Given the description of an element on the screen output the (x, y) to click on. 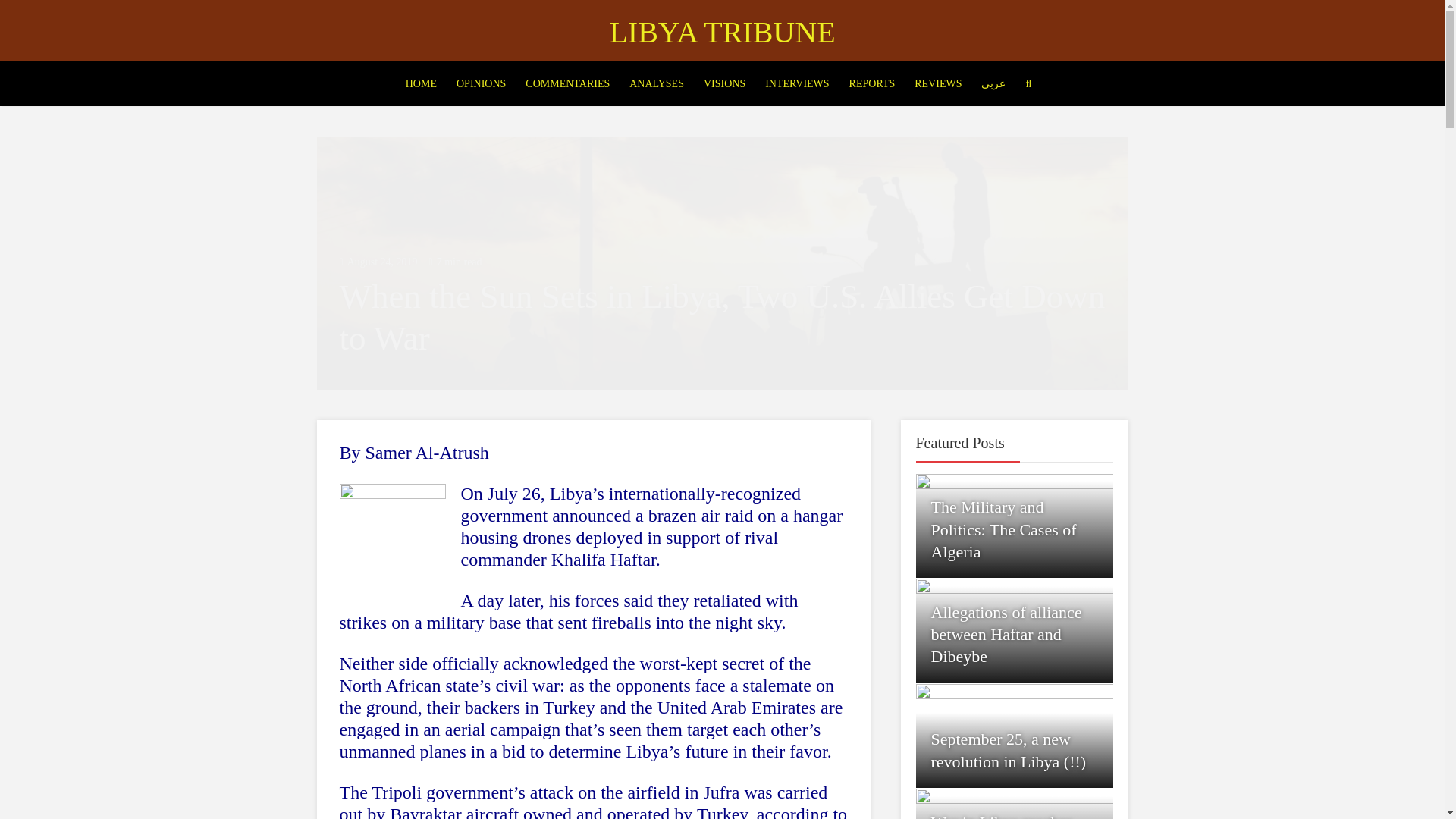
VISIONS (724, 84)
LIBYA TRIBUNE (721, 32)
OPINIONS (481, 84)
ANALYSES (656, 84)
REVIEWS (937, 84)
COMMENTARIES (566, 84)
Libya Tribune (721, 32)
INTERVIEWS (796, 84)
REPORTS (872, 84)
